Given the description of an element on the screen output the (x, y) to click on. 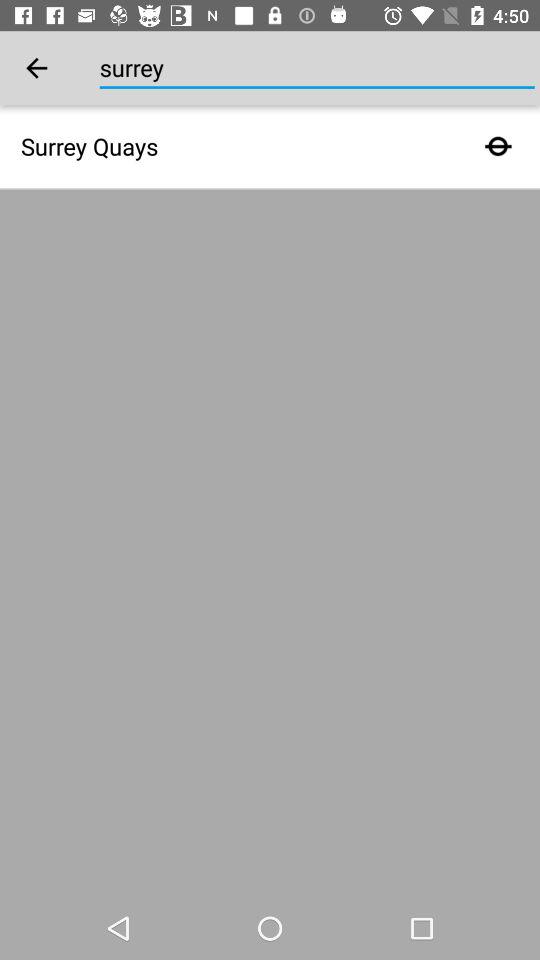
turn off the item next to the surrey icon (36, 68)
